Given the description of an element on the screen output the (x, y) to click on. 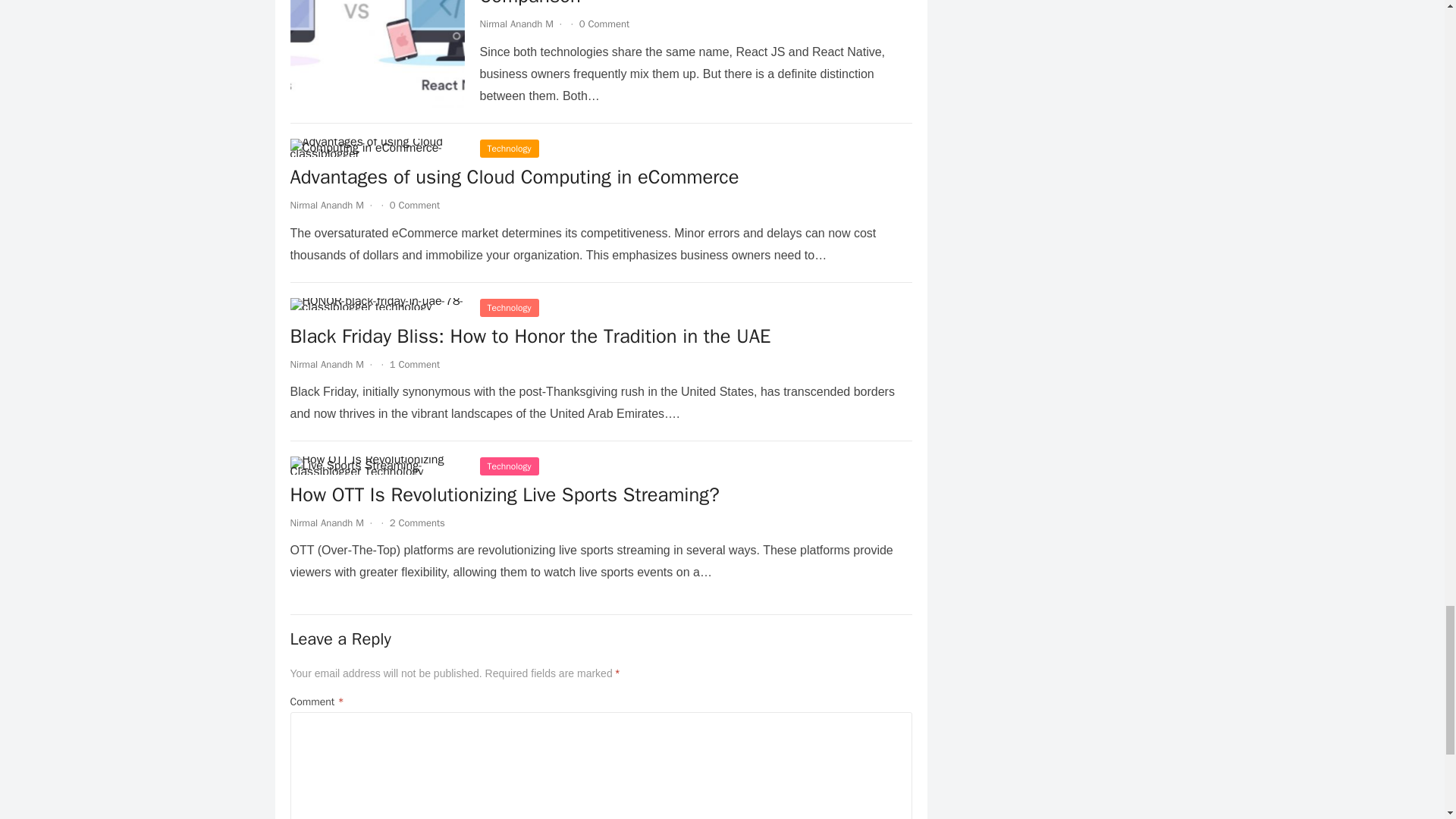
Posts by Nirmal Anandh M (325, 205)
Posts by Nirmal Anandh M (516, 23)
Posts by Nirmal Anandh M (325, 364)
Posts by Nirmal Anandh M (325, 522)
